Given the description of an element on the screen output the (x, y) to click on. 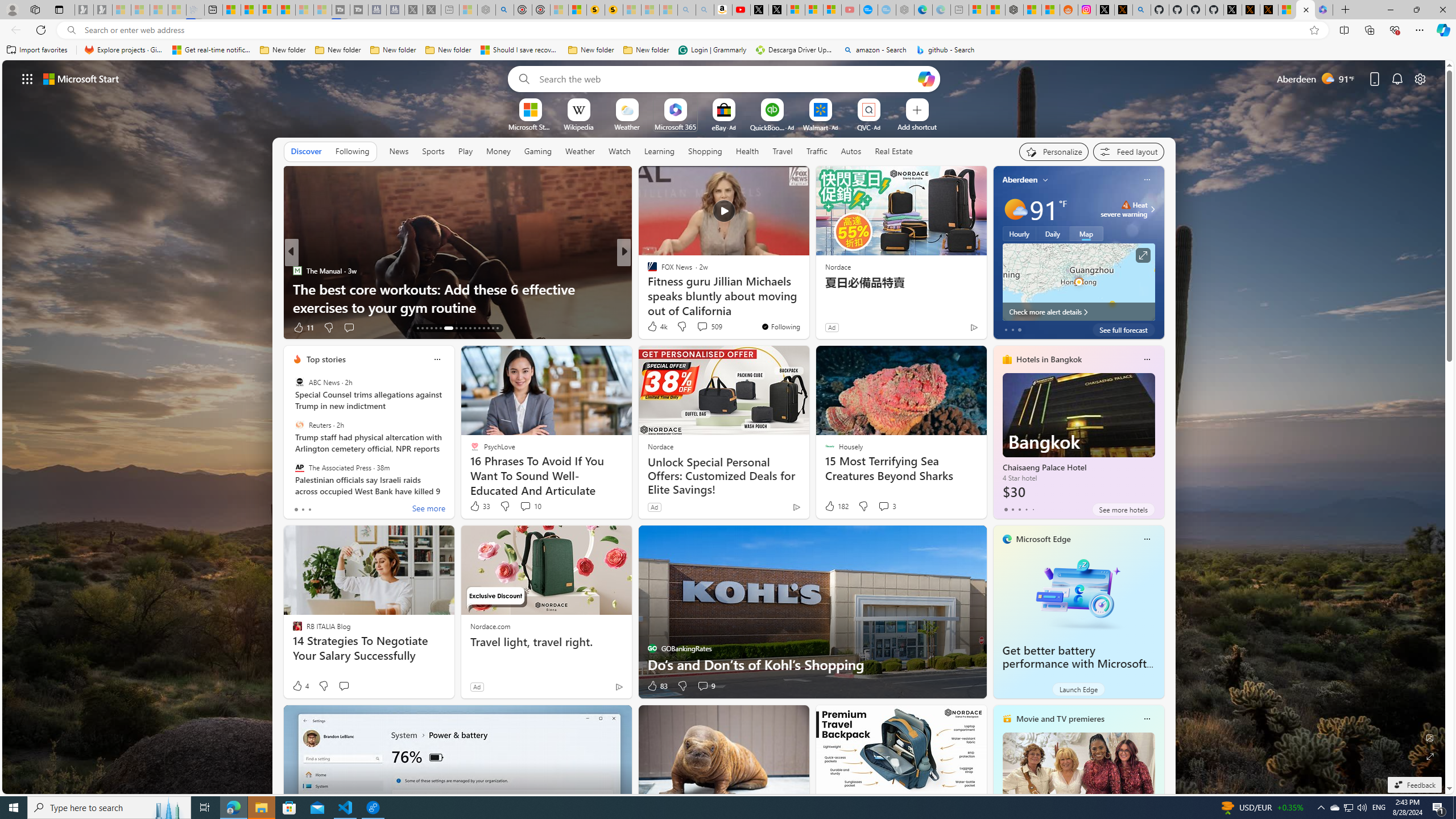
Favorites bar (728, 49)
View comments 9 Comment (703, 685)
Microsoft Edge (1043, 538)
View comments 9 Comment (705, 685)
Hotels in Bangkok (1048, 359)
ABC News (299, 382)
AutomationID: tab-13 (417, 328)
Travel (782, 151)
hotels-header-icon (1006, 358)
Top stories (325, 359)
AutomationID: tab-28 (492, 328)
